Given the description of an element on the screen output the (x, y) to click on. 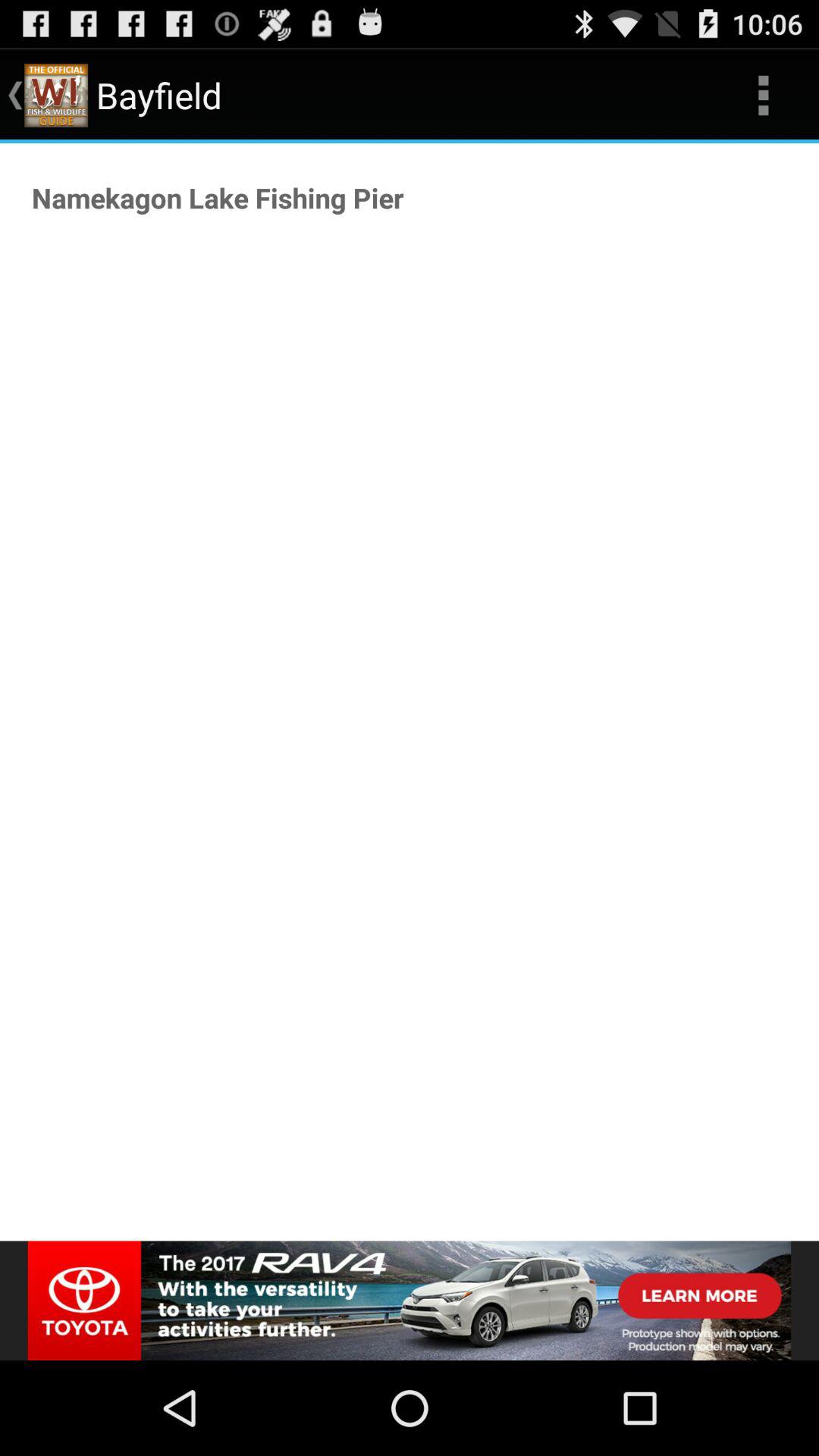
tap icon below the namekagon lake fishing (409, 1300)
